Given the description of an element on the screen output the (x, y) to click on. 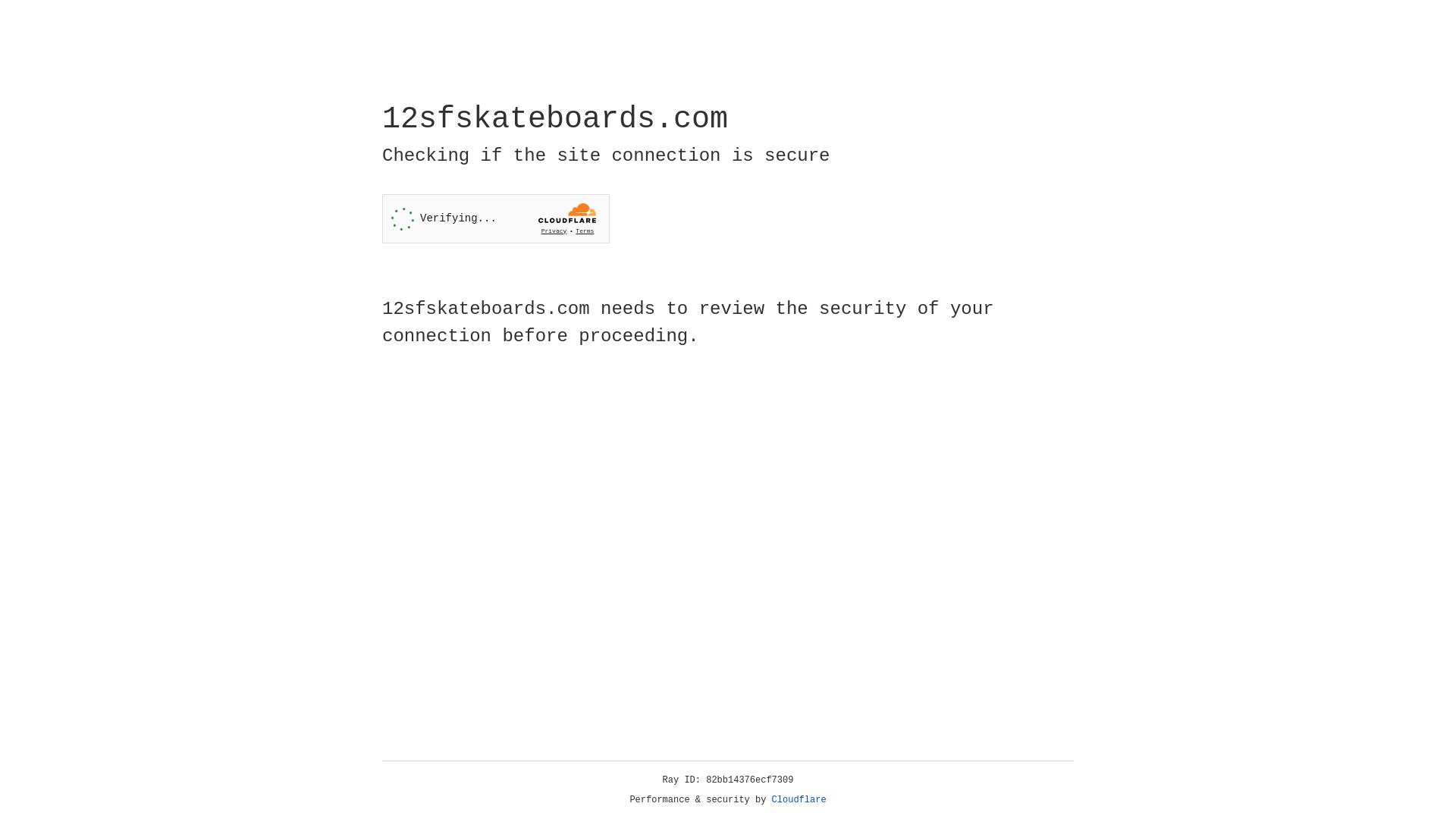
Widget containing a Cloudflare security challenge Element type: hover (495, 218)
Cloudflare Element type: text (798, 799)
